Given the description of an element on the screen output the (x, y) to click on. 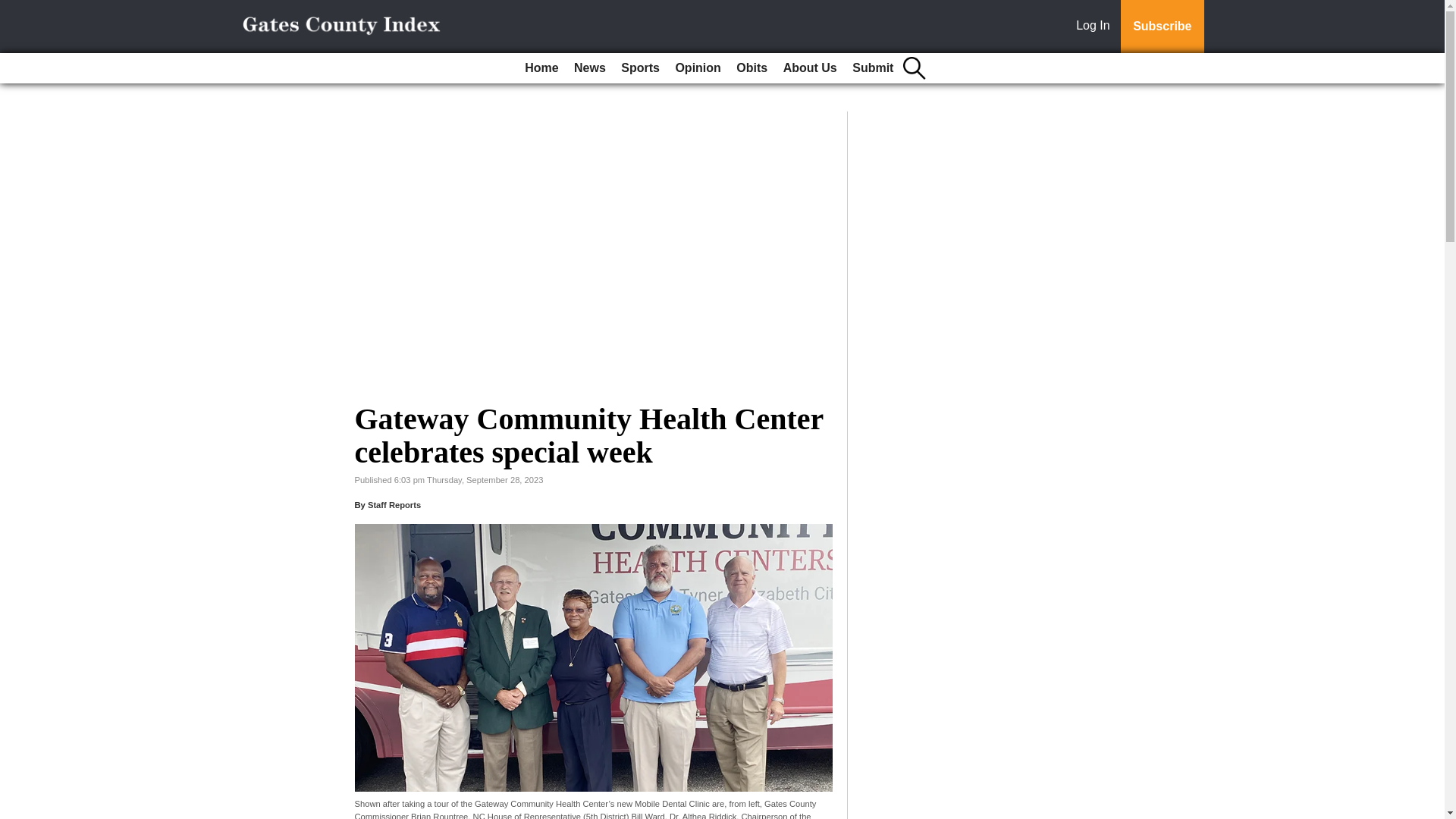
Home (541, 68)
Submit (872, 68)
About Us (810, 68)
News (589, 68)
Opinion (697, 68)
Staff Reports (394, 504)
Log In (1095, 26)
Subscribe (1162, 26)
Sports (639, 68)
Obits (751, 68)
Go (13, 9)
